Given the description of an element on the screen output the (x, y) to click on. 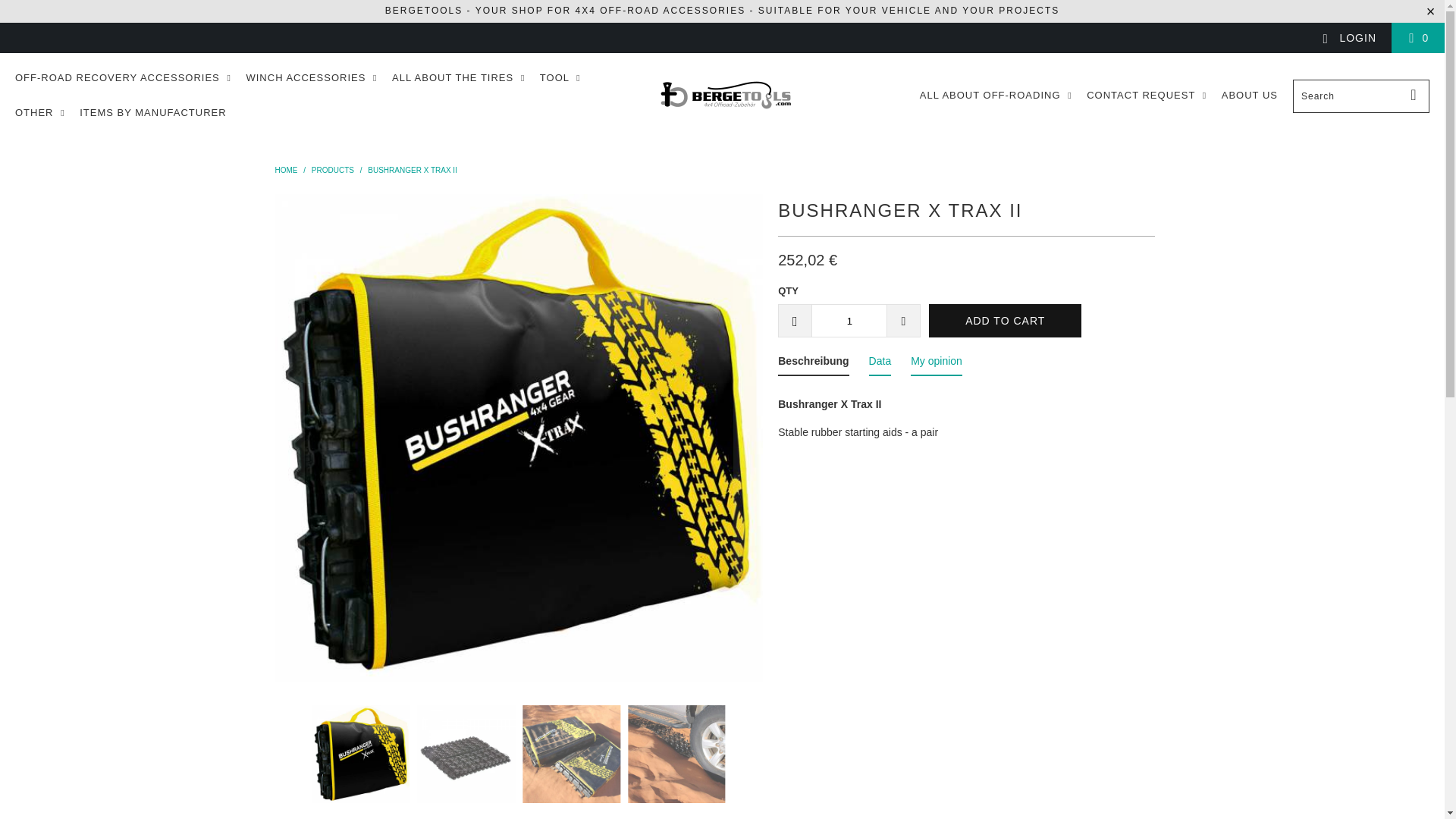
1 (848, 320)
My Account  (1348, 37)
Products (332, 170)
Bergetools (286, 170)
Bergetools (727, 96)
